Given the description of an element on the screen output the (x, y) to click on. 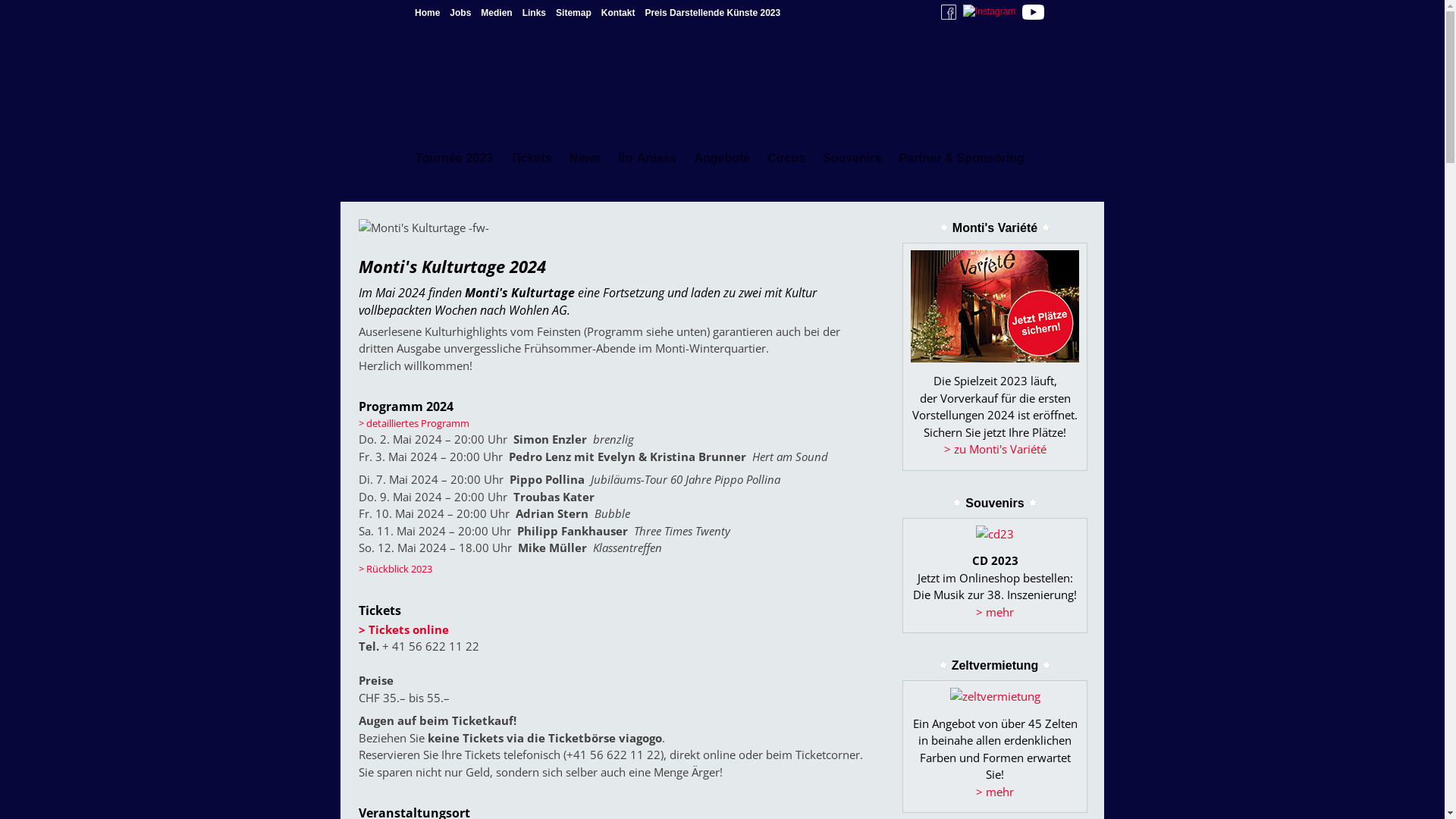
instagram Element type: hover (989, 11)
> detailliertes Programm Element type: text (413, 421)
Monti's Kulturtage Element type: hover (423, 233)
Facebook Element type: hover (948, 11)
Circus Monti Element type: hover (755, 50)
zeltvermietung Element type: hover (994, 696)
> mehr Element type: text (1025, 619)
variete21 Element type: hover (994, 306)
cd23 Element type: hover (994, 533)
News Element type: text (584, 149)
Circus Element type: text (785, 149)
Links Element type: text (534, 12)
Medien Element type: text (495, 12)
Tickets Element type: text (530, 149)
You Tube Element type: hover (1032, 11)
Souvenirs Element type: text (851, 149)
Kontakt Element type: text (618, 12)
you tube Element type: hover (1032, 16)
Home Element type: text (426, 12)
> Tickets online Element type: text (403, 629)
Kulturtage Element type: hover (891, 99)
cd23 Element type: hover (994, 533)
variete Element type: hover (994, 361)
Jobs Element type: text (459, 12)
Instagram Element type: hover (989, 11)
Partner & Sponsoring Element type: text (960, 149)
zeltvermietung Element type: hover (994, 695)
Zeltvermietung Element type: hover (970, 81)
Angebote Element type: text (721, 149)
> mehr Element type: text (994, 800)
facebook Element type: hover (948, 16)
Ihr Anlass Element type: text (647, 149)
Sitemap Element type: text (573, 12)
